Given the description of an element on the screen output the (x, y) to click on. 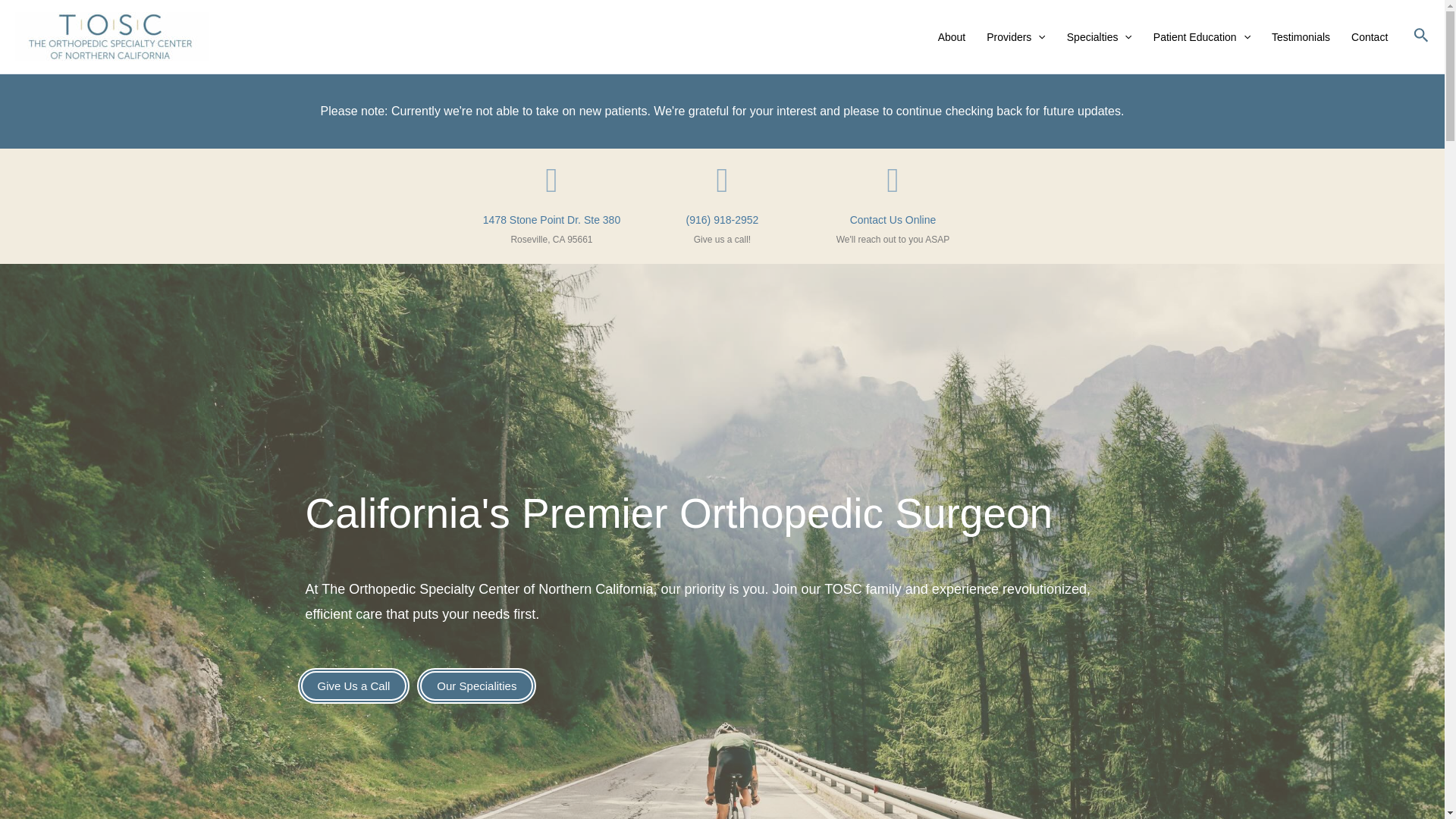
Contact (1368, 35)
Specialties (1099, 35)
Patient Education (1201, 35)
Testimonials (1300, 35)
Providers (1016, 35)
